Given the description of an element on the screen output the (x, y) to click on. 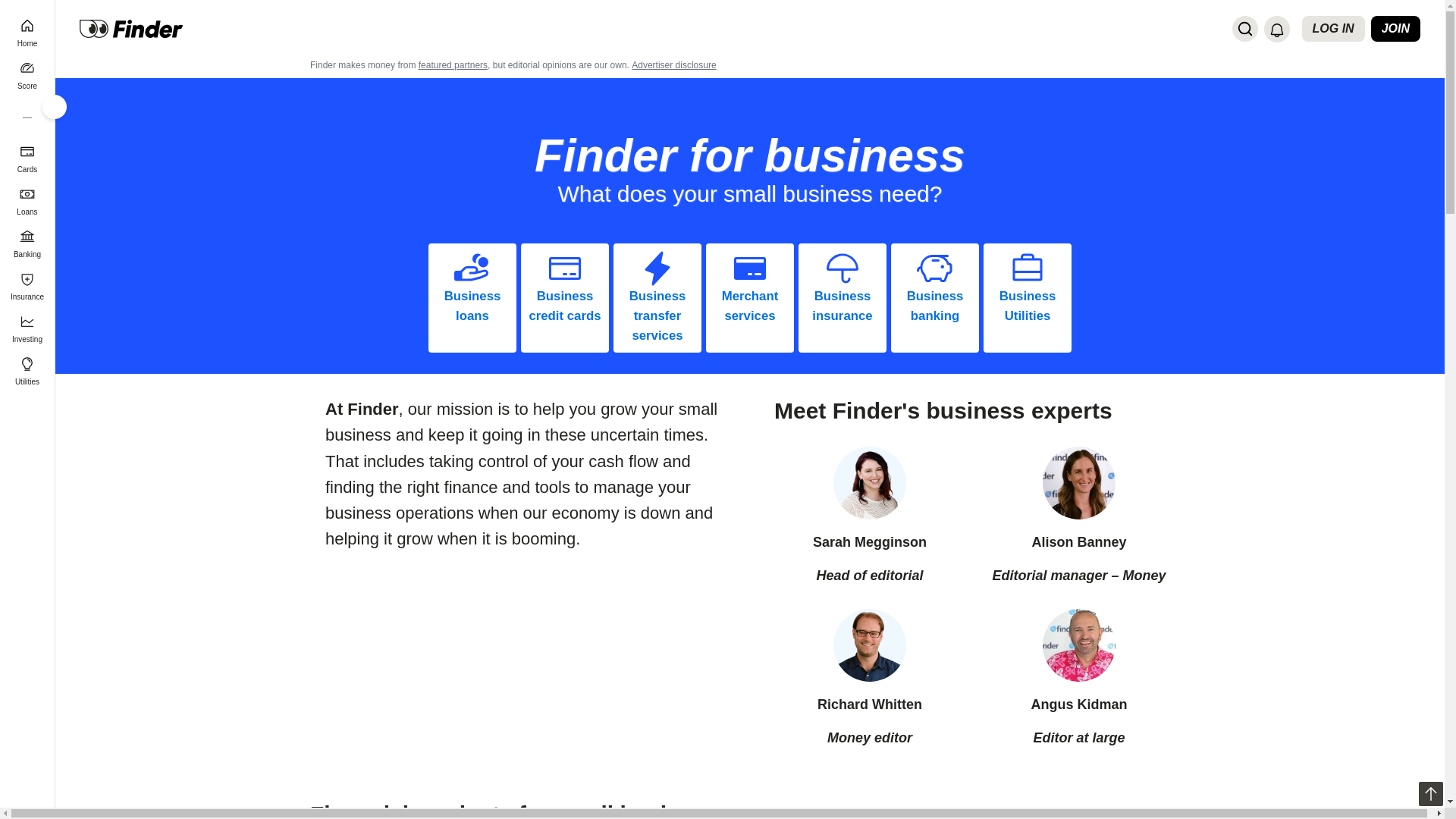
Back to Top (1430, 793)
Important information about this website (673, 64)
